Given the description of an element on the screen output the (x, y) to click on. 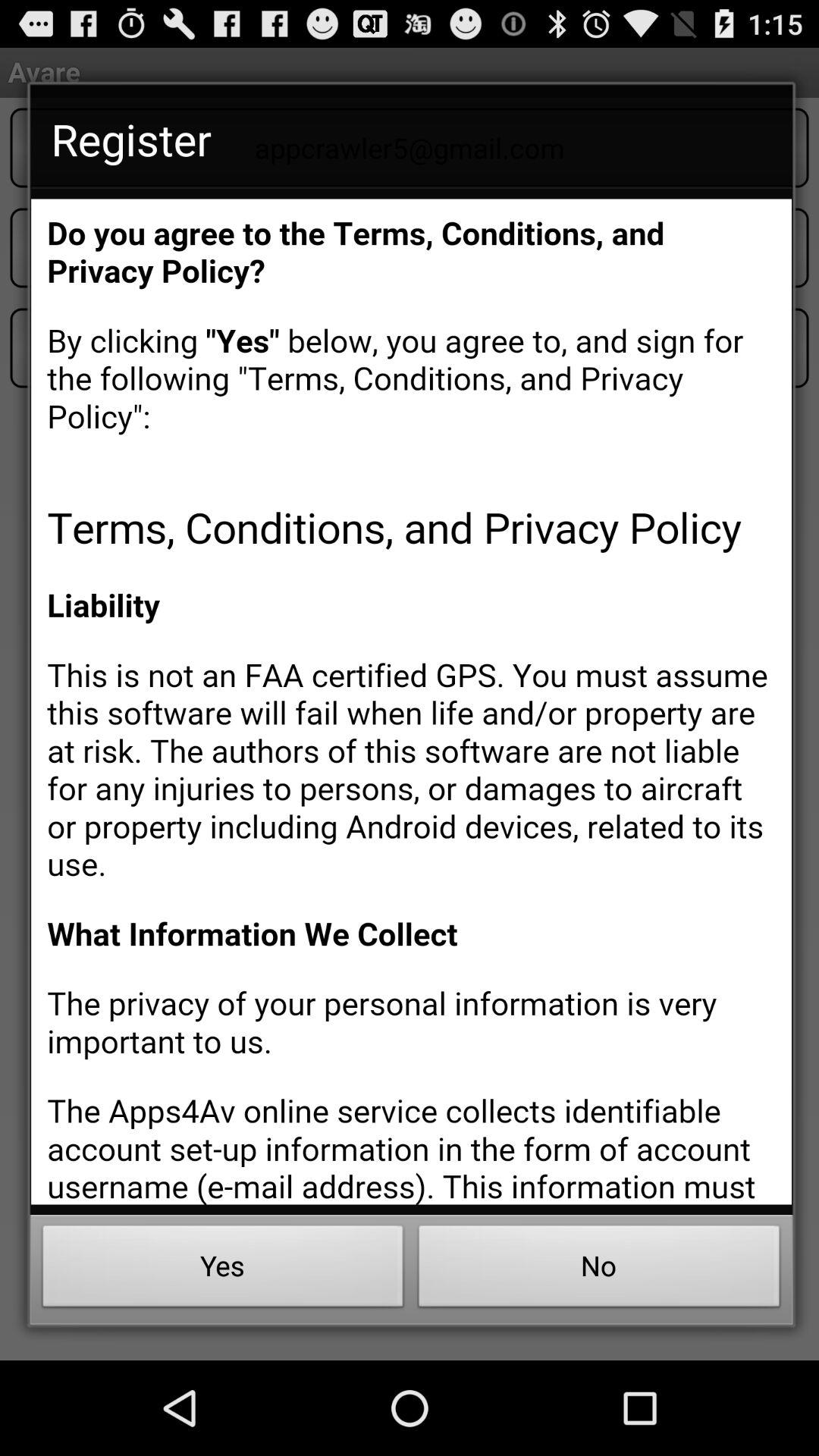
view terms and conditions page (411, 701)
